Given the description of an element on the screen output the (x, y) to click on. 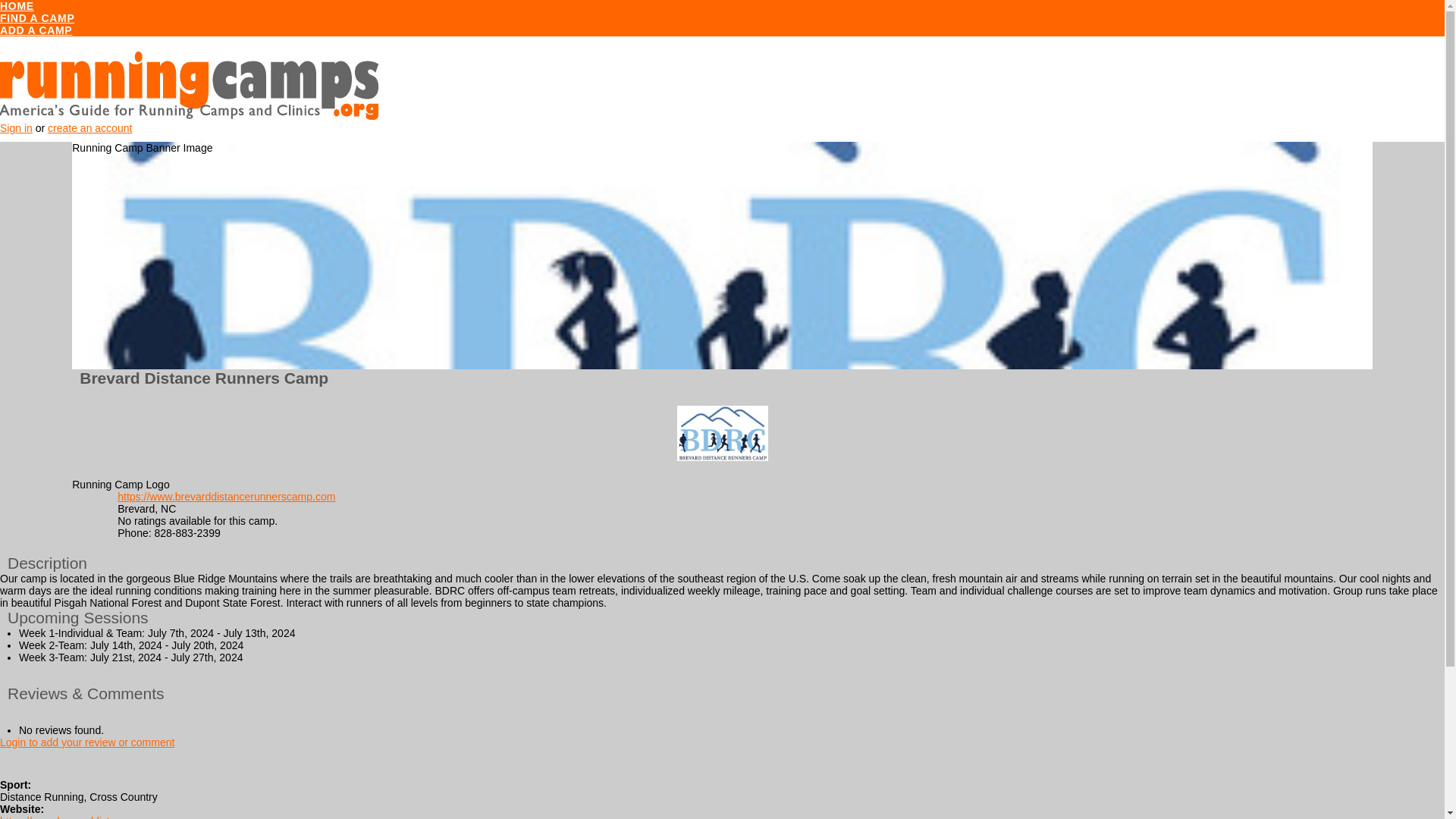
FIND A CAMP (37, 18)
ADD A CAMP (35, 30)
Sign in (16, 128)
create an account (90, 128)
Login to add your review or comment (87, 742)
HOME (16, 6)
